Given the description of an element on the screen output the (x, y) to click on. 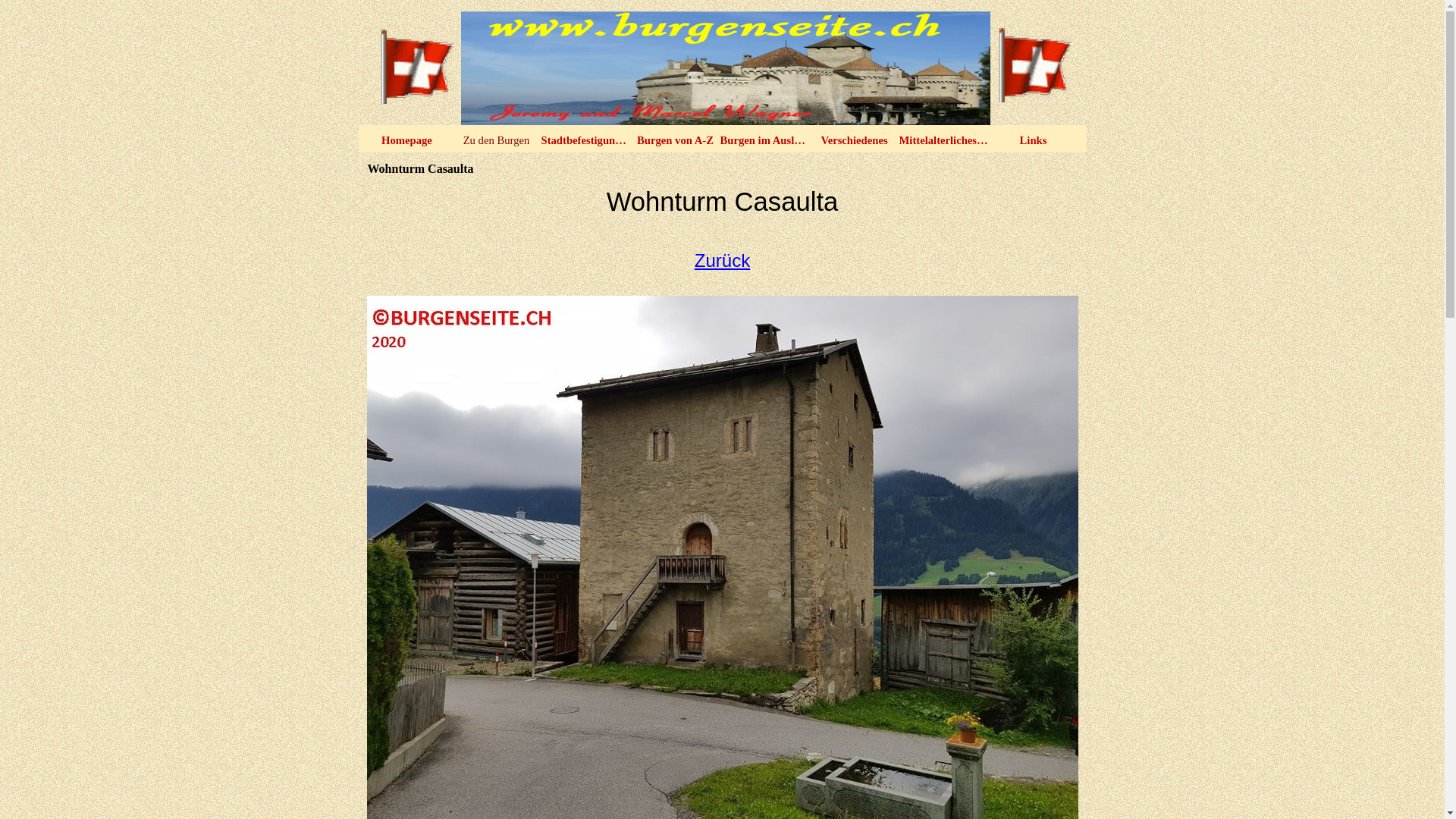
Homepage Element type: text (406, 139)
